Given the description of an element on the screen output the (x, y) to click on. 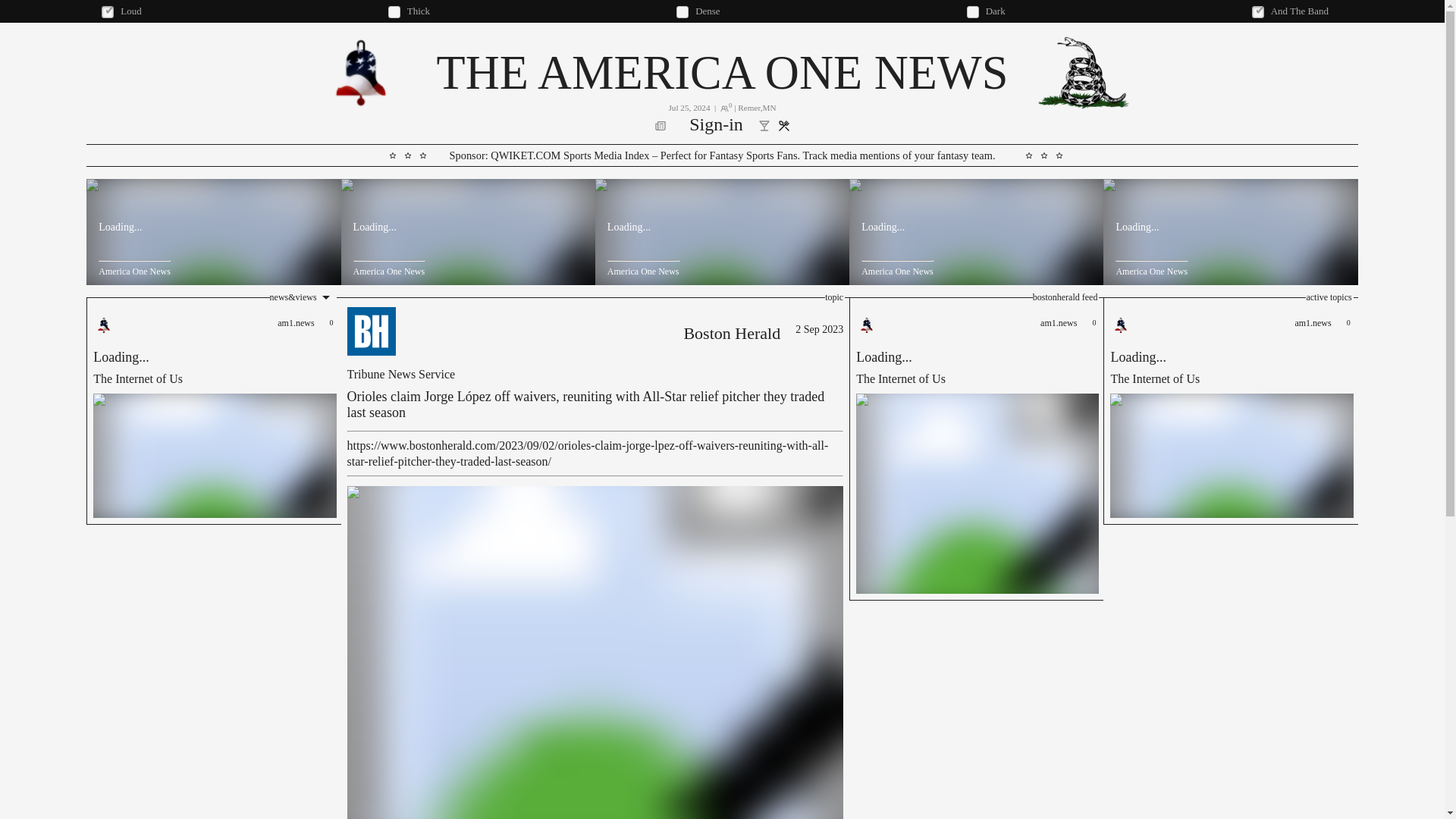
Sign-in (715, 125)
QWIKET.COM (1229, 410)
Boston Herald (525, 154)
THE AMERICA ONE NEWS (731, 333)
